Given the description of an element on the screen output the (x, y) to click on. 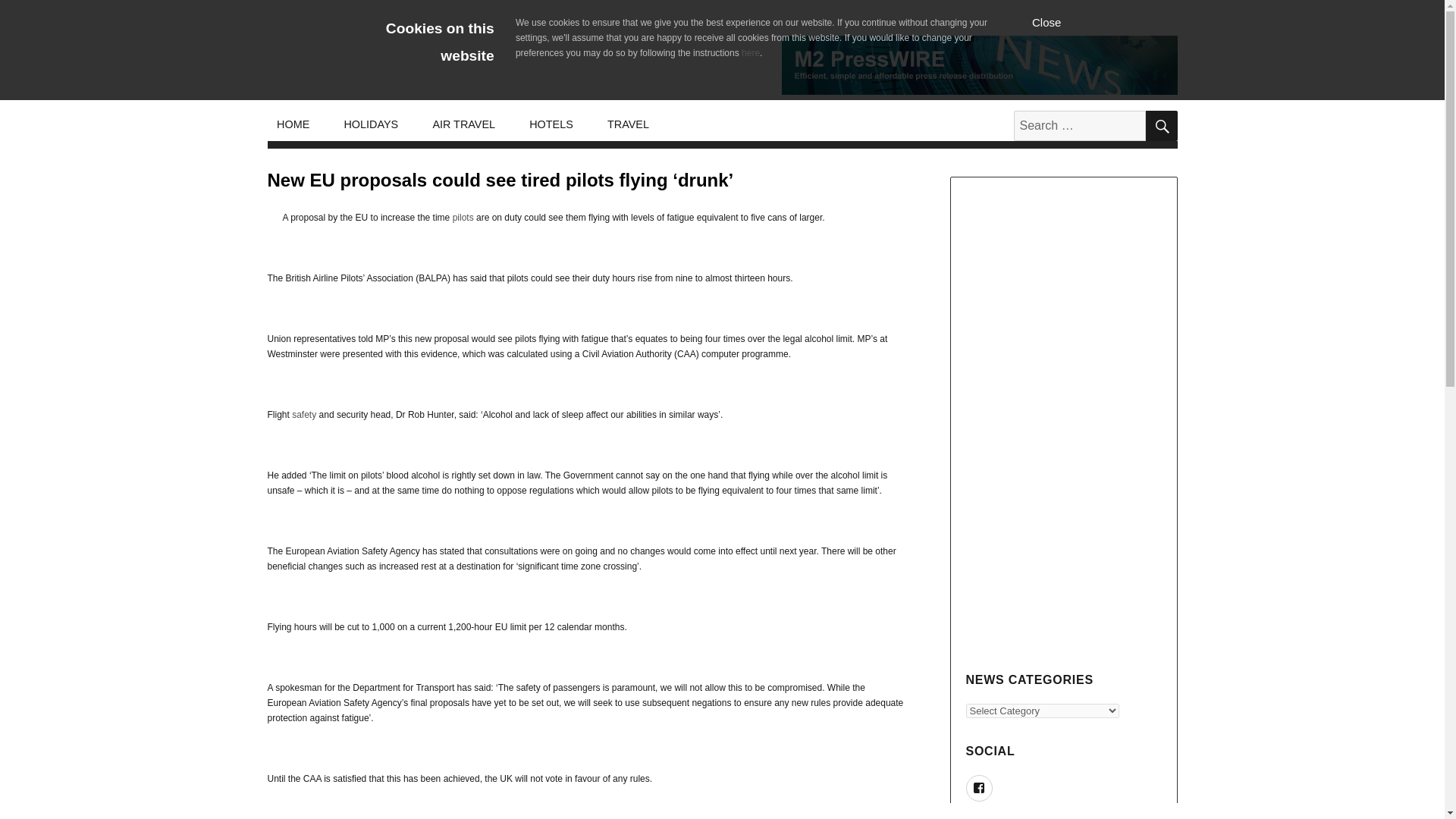
FACEBOOK (979, 787)
Close (1046, 21)
here (750, 52)
HOLIDAYS (370, 124)
TRAVEL (627, 124)
HOME (292, 124)
SEARCH (1160, 125)
AIR TRAVEL (464, 124)
safety (303, 414)
HOTELS (551, 124)
